Given the description of an element on the screen output the (x, y) to click on. 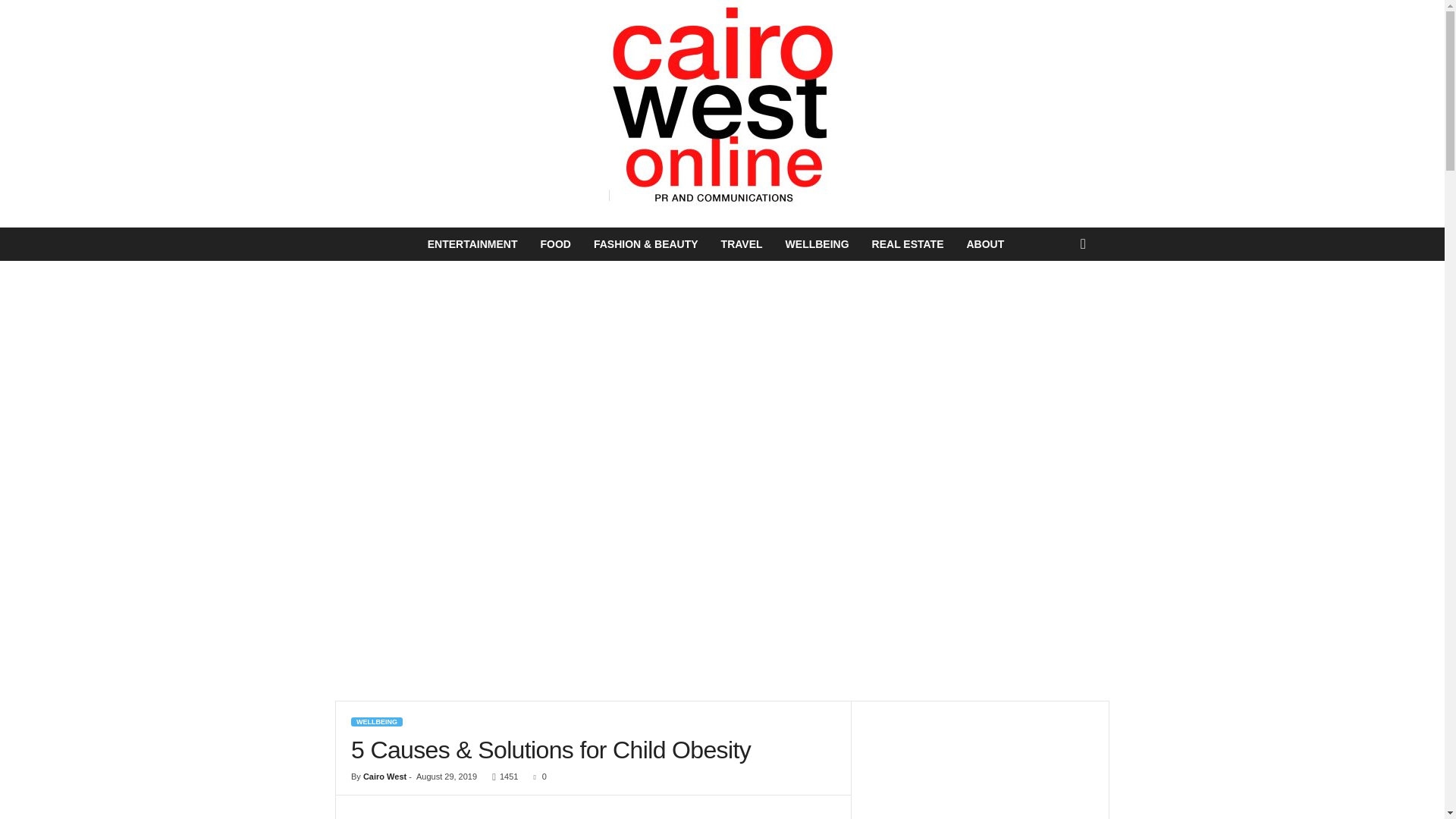
TRAVEL (742, 244)
ABOUT (984, 244)
0 (536, 776)
ENTERTAINMENT (472, 244)
FOOD (554, 244)
REAL ESTATE (907, 244)
Cairo West (384, 776)
WELLBEING (376, 721)
WELLBEING (817, 244)
